Given the description of an element on the screen output the (x, y) to click on. 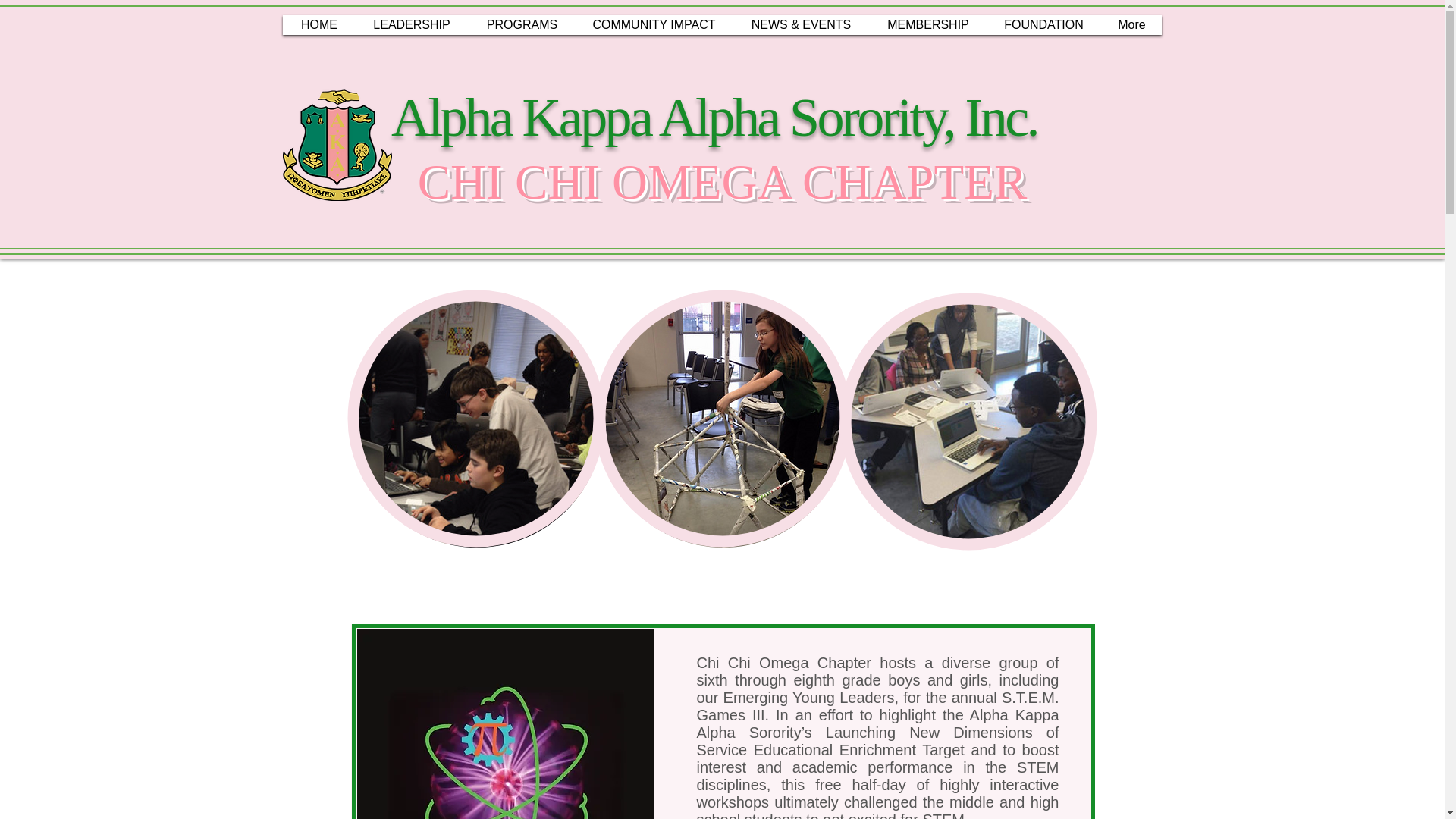
HOME (318, 24)
LEADERSHIP (411, 24)
Screen Shot 2021-02-25 at 1.08.04 PM.png (722, 421)
MEMBERSHIP (927, 24)
Screen Shot 2021-02-25 at 1.08.43 PM.png (969, 421)
PROGRAMS (521, 24)
Screen Shot 2021-02-25 at 1.07.34 PM.png (477, 421)
FOUNDATION (1043, 24)
COMMUNITY IMPACT (653, 24)
